Given the description of an element on the screen output the (x, y) to click on. 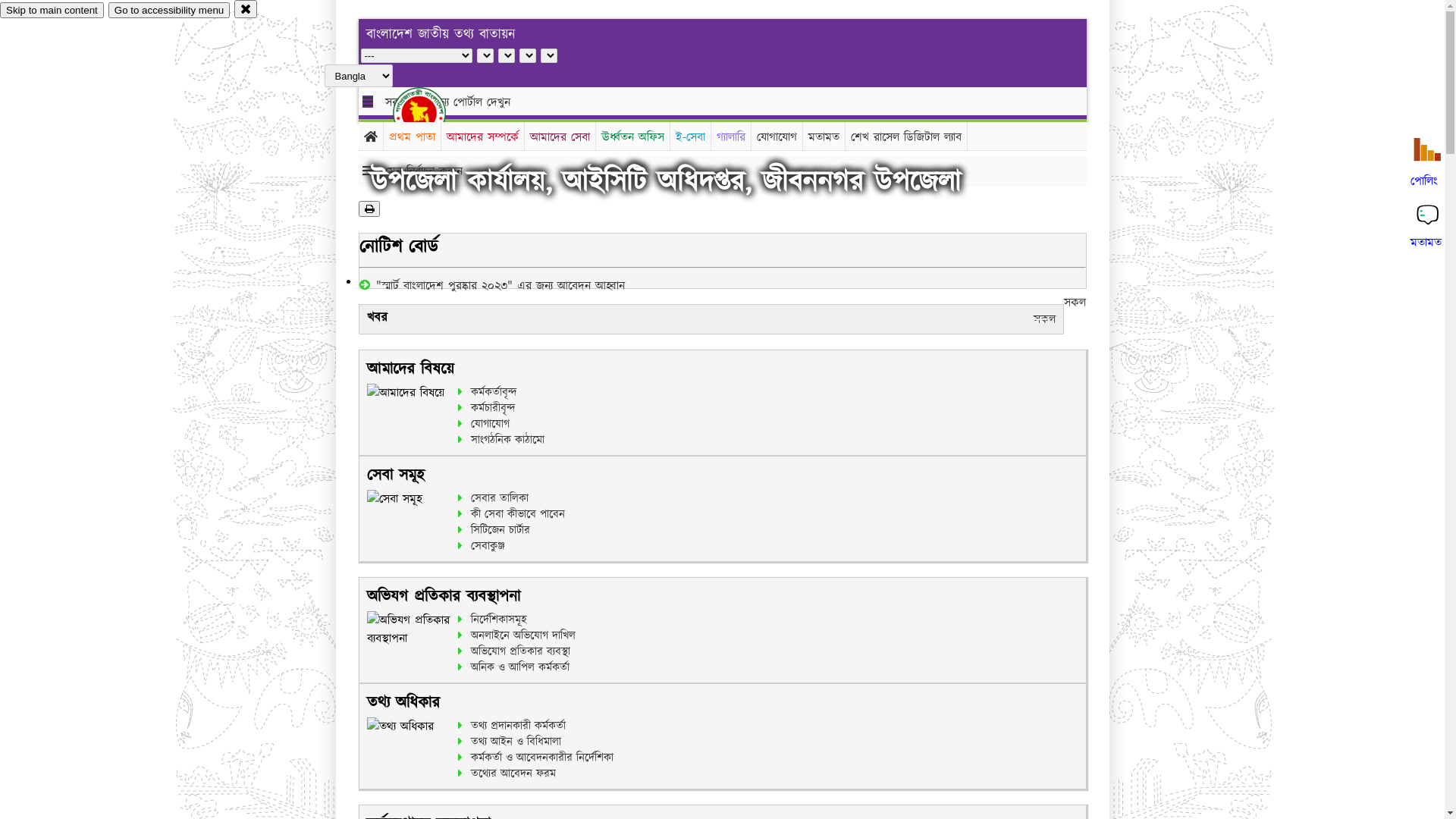

                
             Element type: hover (431, 112)
Skip to main content Element type: text (51, 10)
close Element type: hover (245, 9)
Go to accessibility menu Element type: text (168, 10)
